Given the description of an element on the screen output the (x, y) to click on. 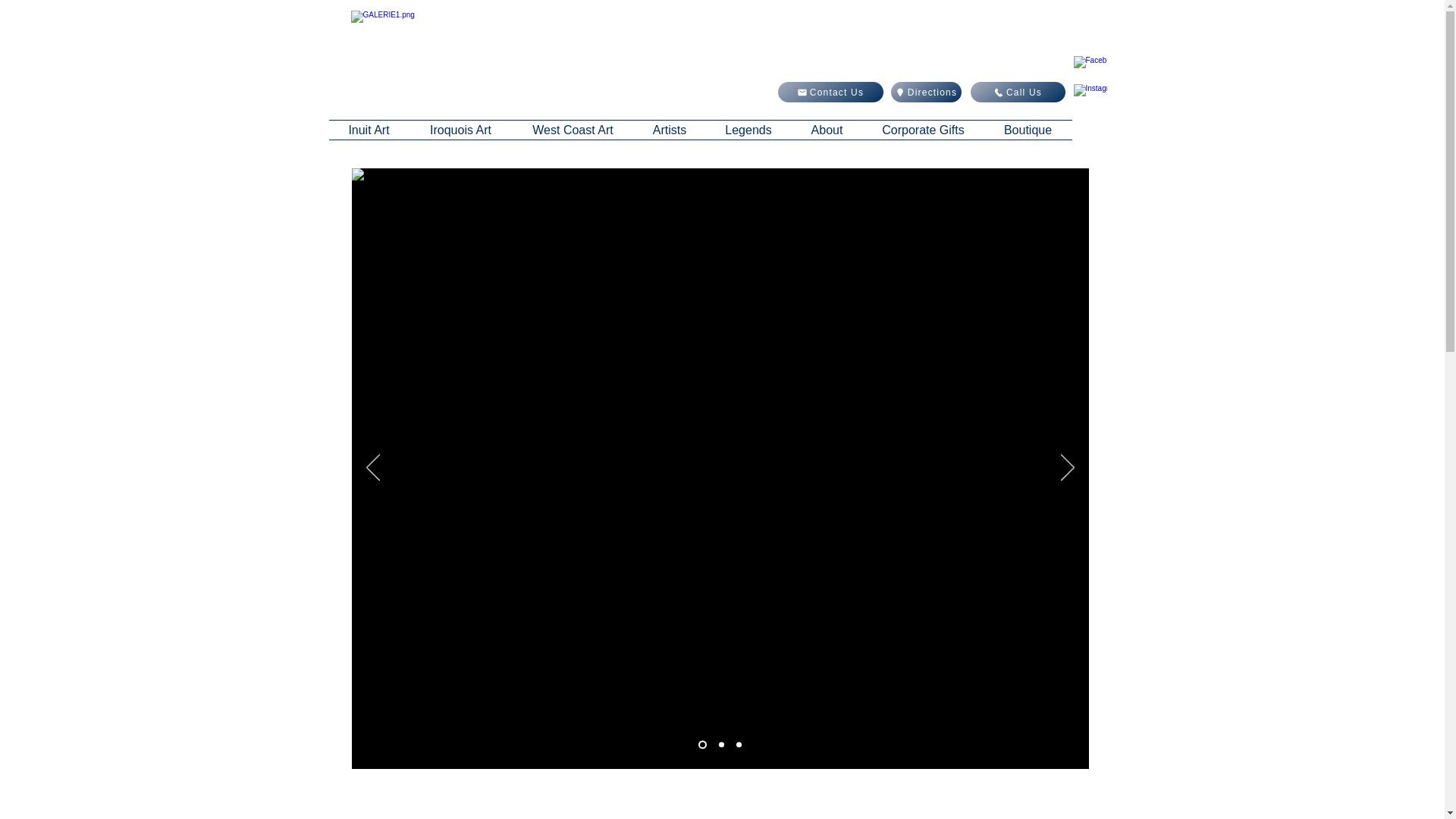
About (827, 129)
Call Us (1018, 91)
Iroquois Art (460, 129)
West Coast Art (572, 129)
Legends (747, 129)
Directions (924, 91)
Contact Us (830, 91)
Inuit Art (369, 129)
Boutique (1027, 129)
Corporate Gifts (923, 129)
